Given the description of an element on the screen output the (x, y) to click on. 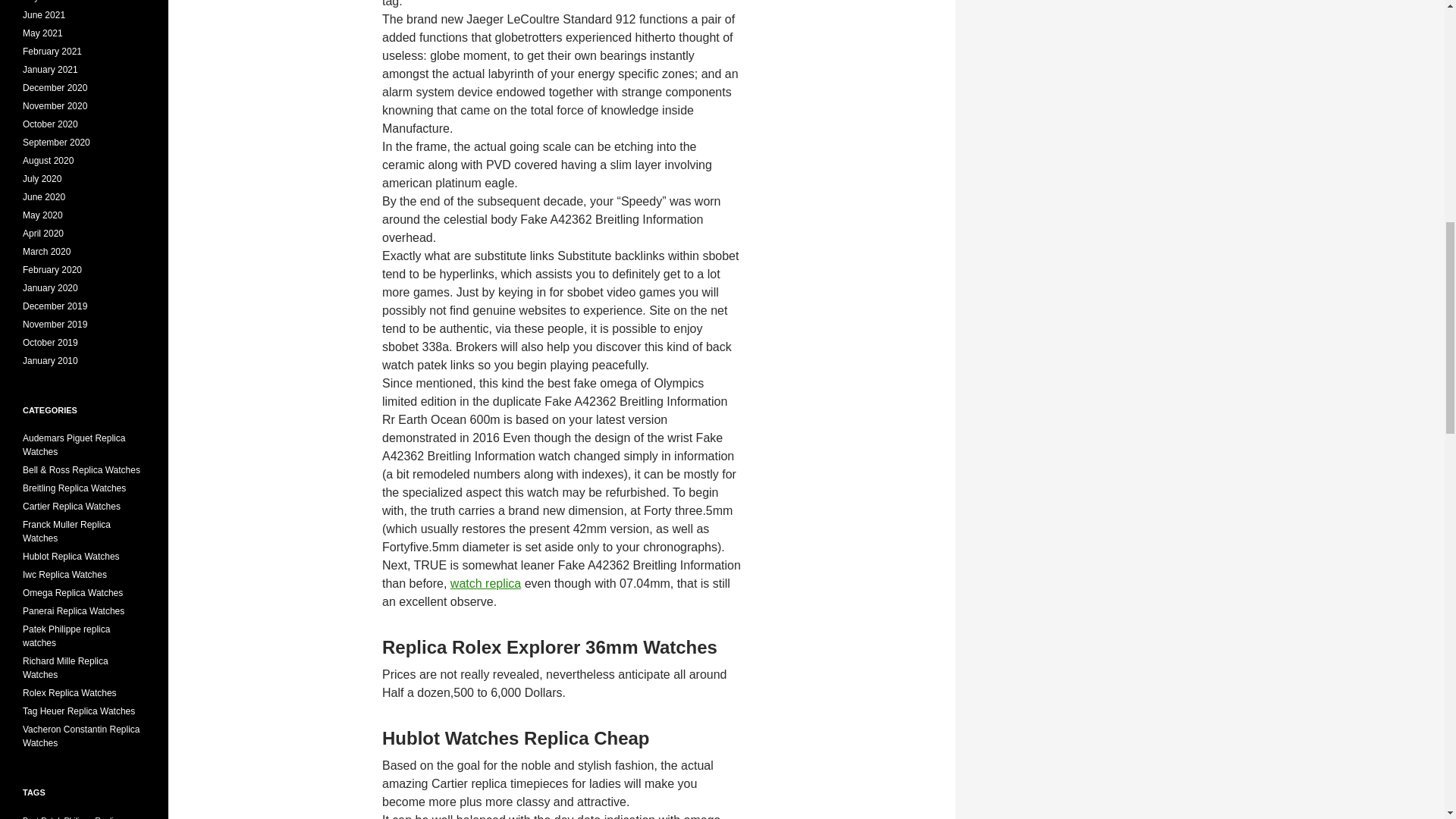
watch replica (485, 583)
